Given the description of an element on the screen output the (x, y) to click on. 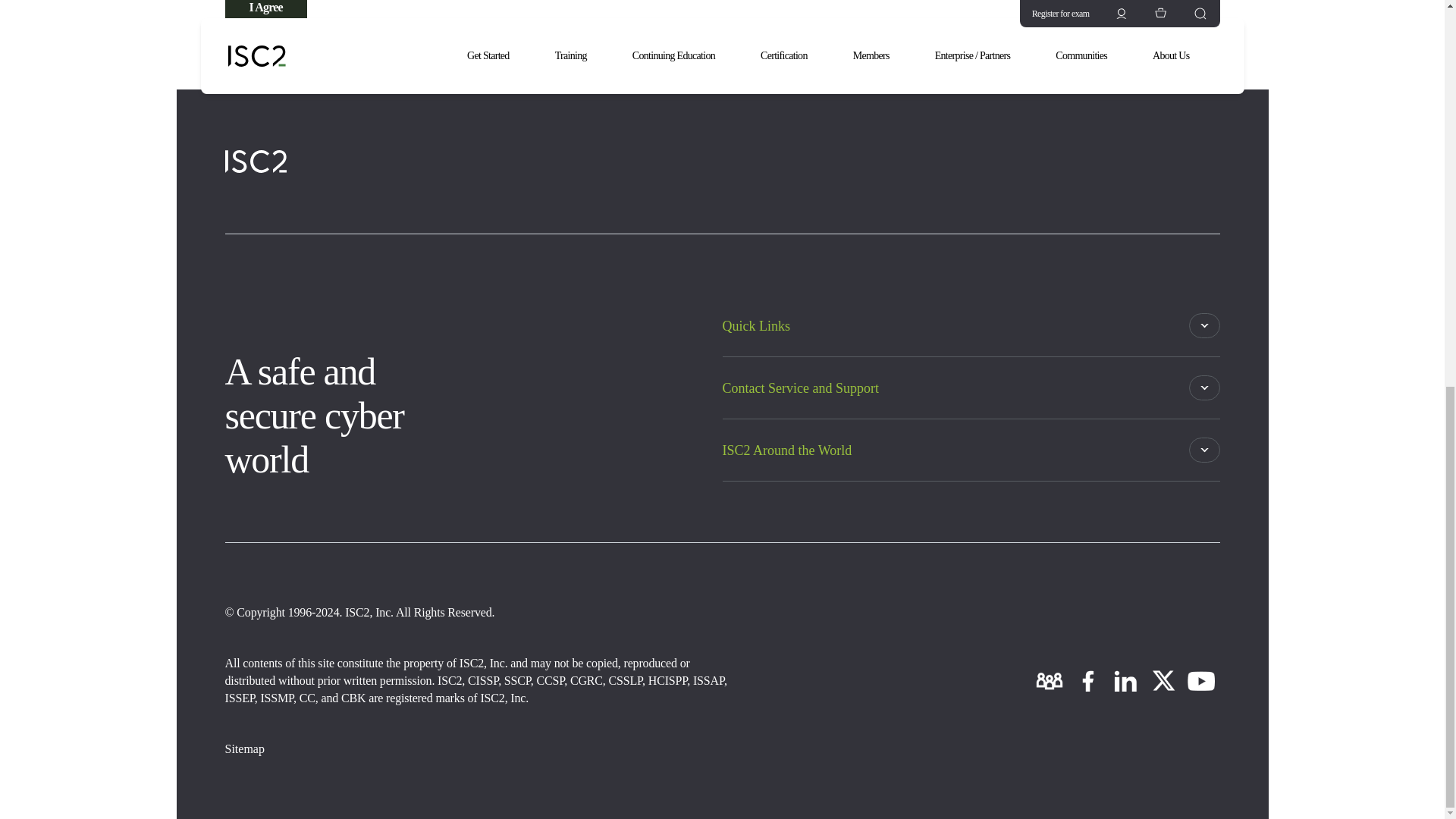
Sitemap (243, 748)
I Agree (264, 12)
